Given the description of an element on the screen output the (x, y) to click on. 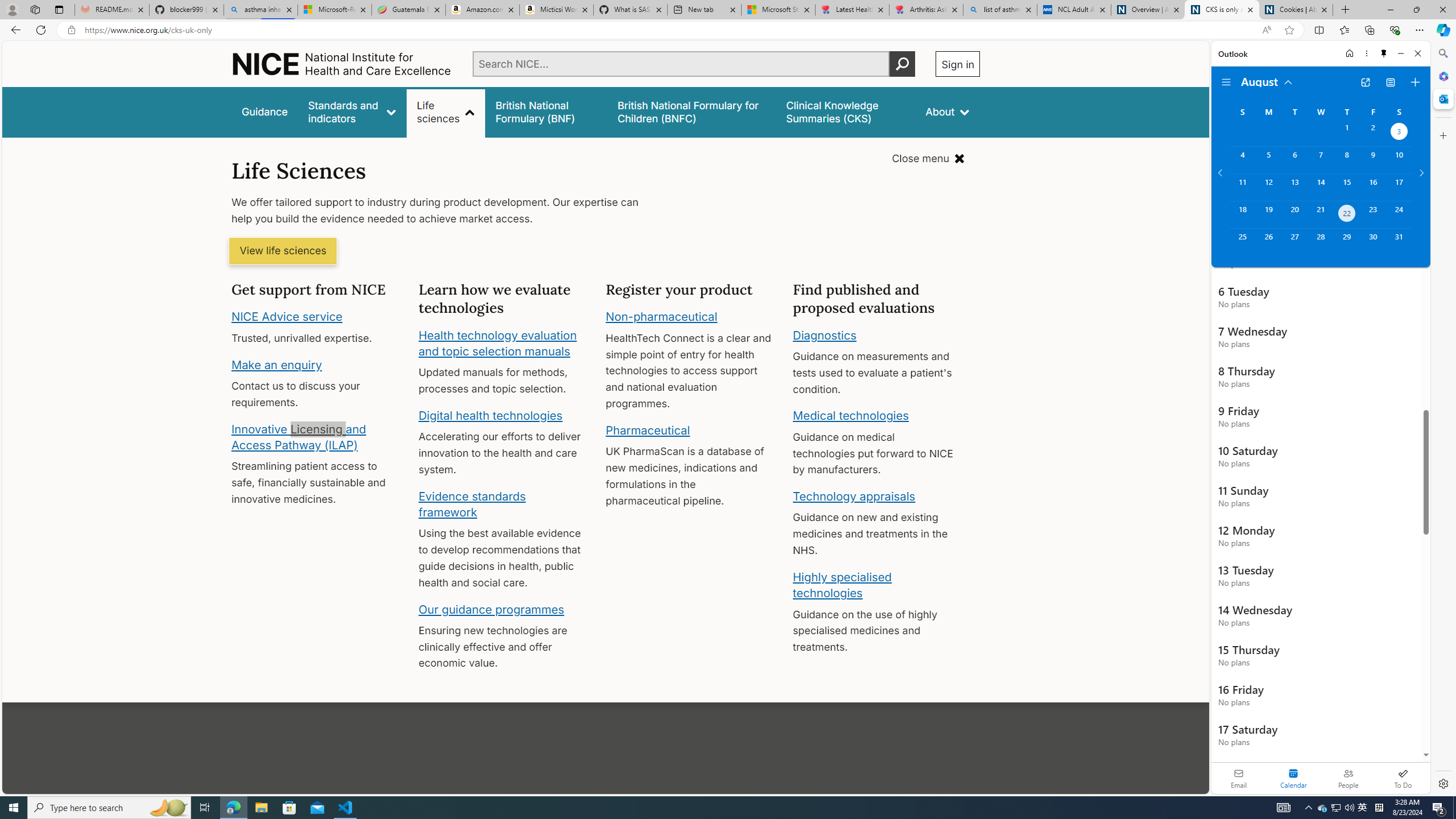
Cookies | About | NICE (1295, 9)
Friday, August 16, 2024.  (1372, 186)
Non-pharmaceutical (661, 316)
Monday, August 19, 2024.  (1268, 214)
View Switcher. Current view is Agenda view (1390, 82)
Guidance (264, 111)
Friday, August 23, 2024.  (1372, 214)
To Do (1402, 777)
Tuesday, August 20, 2024.  (1294, 214)
Sunday, August 11, 2024.  (1242, 186)
British National Formulary for Children (BNFC) (691, 111)
